Given the description of an element on the screen output the (x, y) to click on. 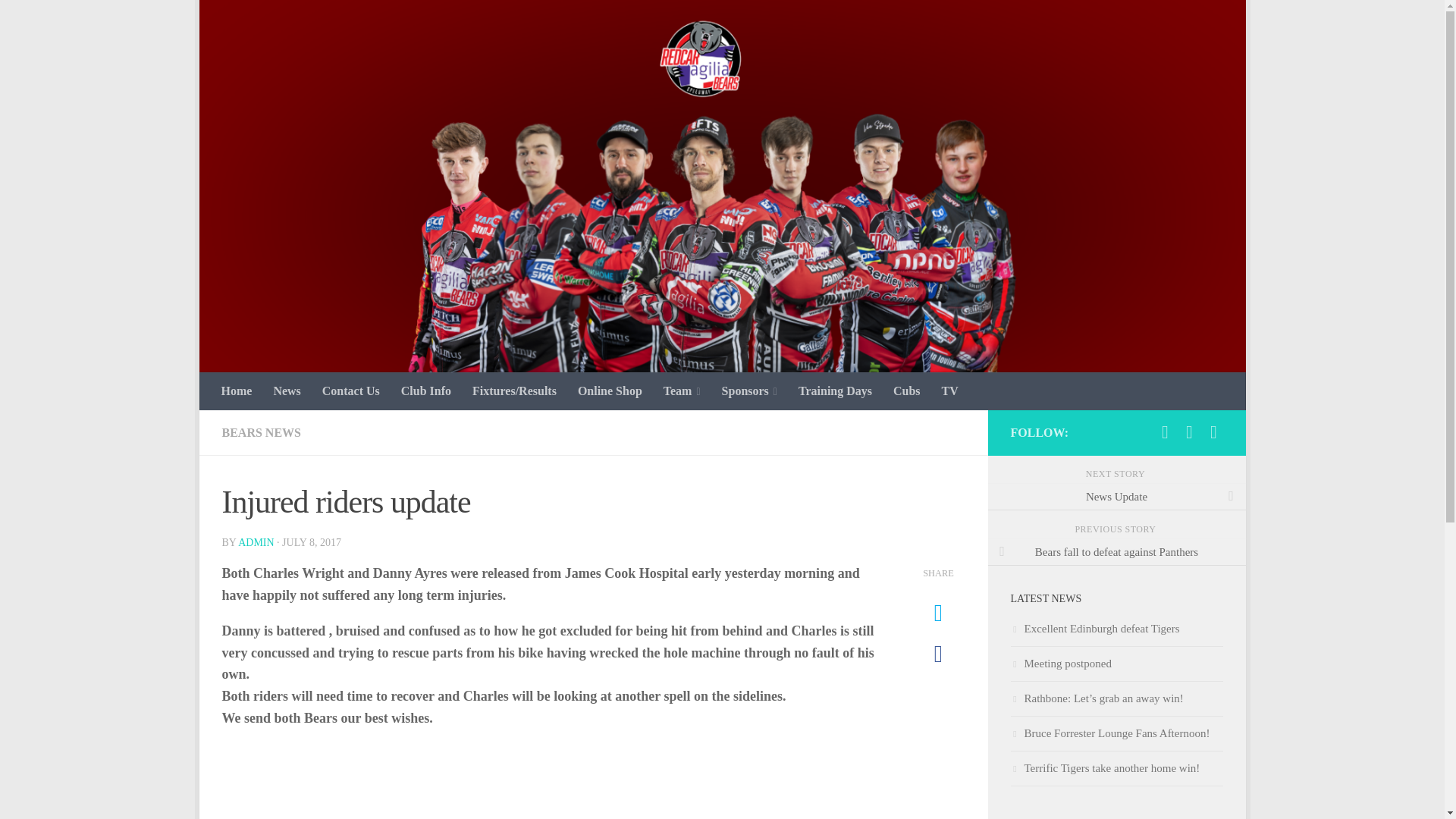
News (286, 391)
Follow us on Facebook (1164, 432)
Home (237, 391)
Sponsors (749, 391)
Posts by admin (255, 542)
TV (950, 391)
Skip to content (258, 20)
Follow us on Twitter (1188, 432)
Follow us on Youtube (1213, 432)
Contact Us (350, 391)
Online Shop (609, 391)
Team (681, 391)
Club Info (425, 391)
Cubs (906, 391)
Training Days (834, 391)
